Given the description of an element on the screen output the (x, y) to click on. 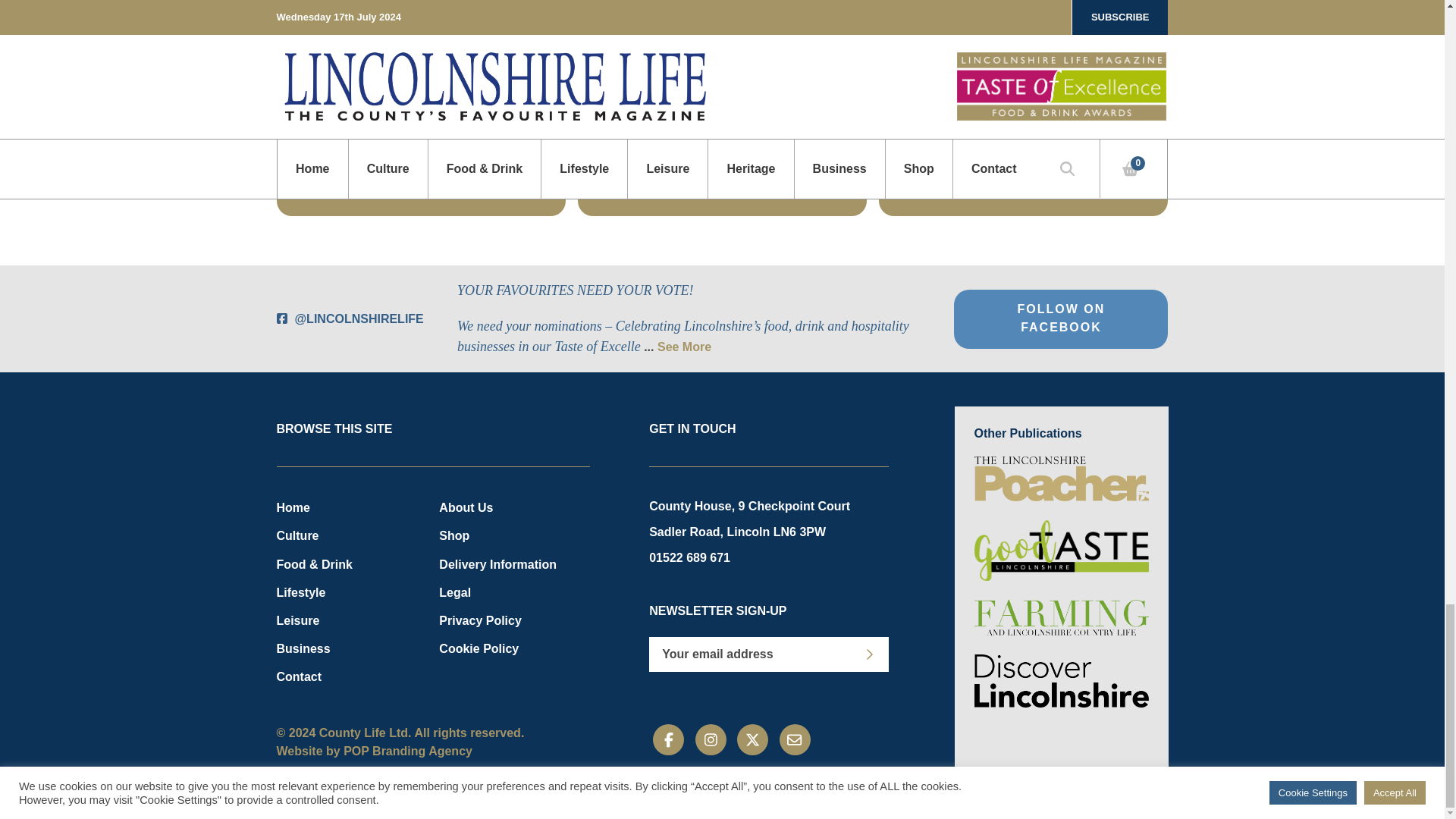
POP Branding Agency (407, 750)
Instagram (710, 739)
Twitter (752, 739)
Facebook (668, 739)
Email (794, 739)
